Given the description of an element on the screen output the (x, y) to click on. 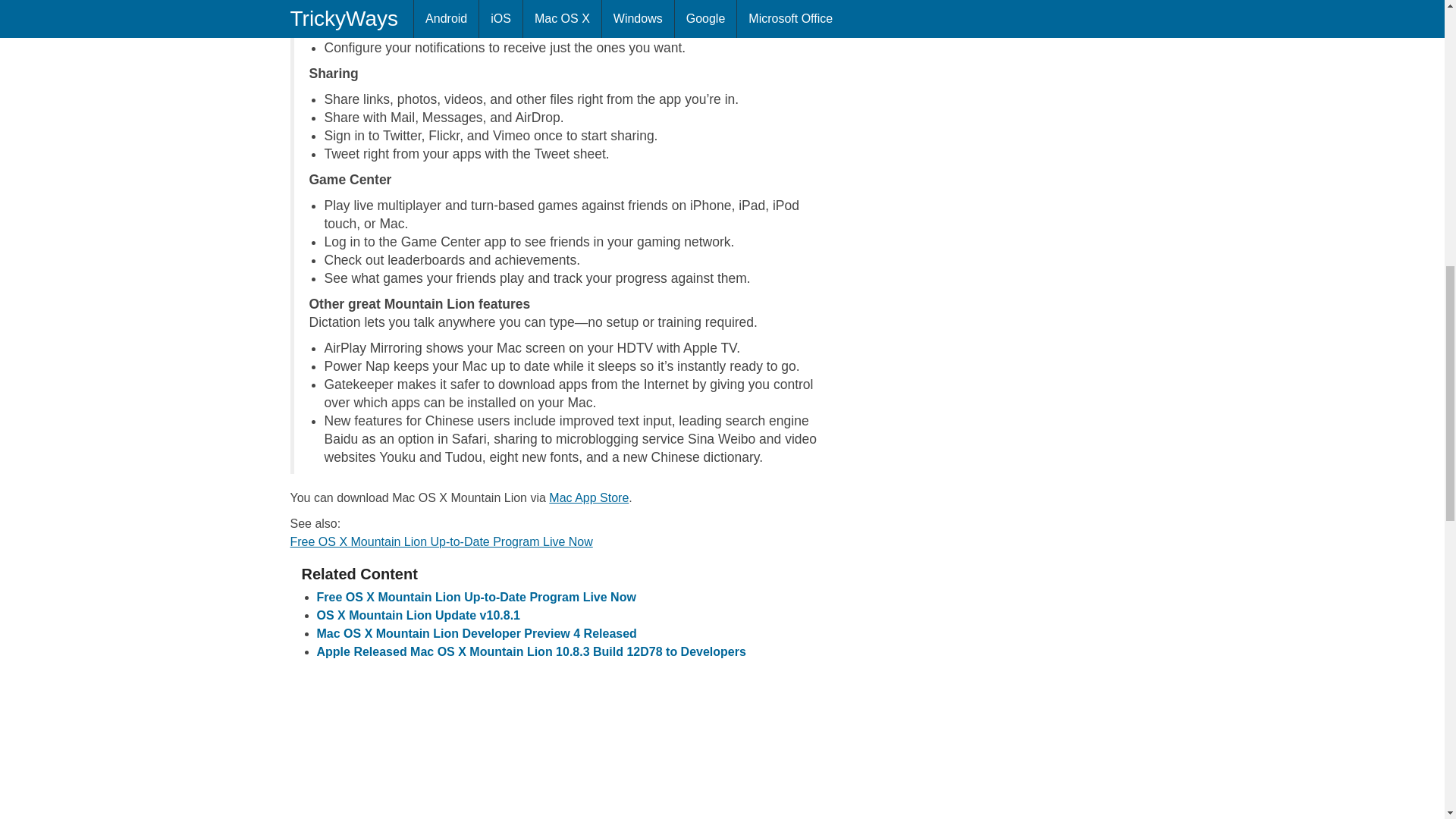
Free OS X Mountain Lion Up-to-Date Program Live Now (476, 596)
Free OS X Mountain Lion Up-to-Date Program Live Now (440, 541)
Mac App Store (588, 497)
OS X Mountain Lion Update v10.8.1 (418, 615)
Mac OS X Mountain Lion Developer Preview 4 Released (477, 633)
Mac OS X Mountain Lion Developer Preview 4 Released (477, 633)
Free OS X Mountain Lion Up-to-Date Program Live Now (476, 596)
Free OS X Mountain Lion Up-to-Date Program Live Now (440, 541)
OS X Mountain Lion Update v10.8.1 (418, 615)
